Given the description of an element on the screen output the (x, y) to click on. 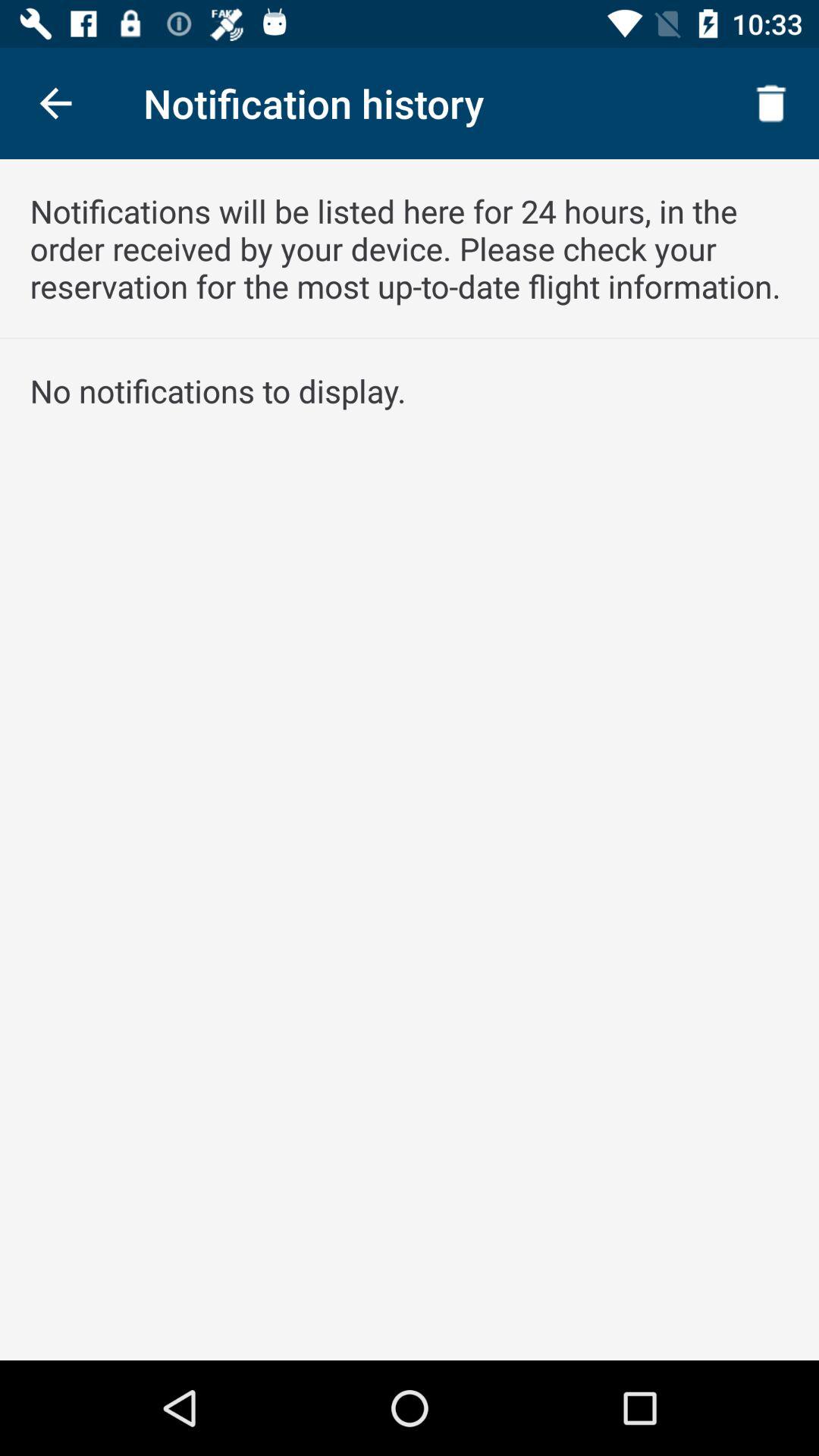
turn off icon to the left of notification history (55, 103)
